Given the description of an element on the screen output the (x, y) to click on. 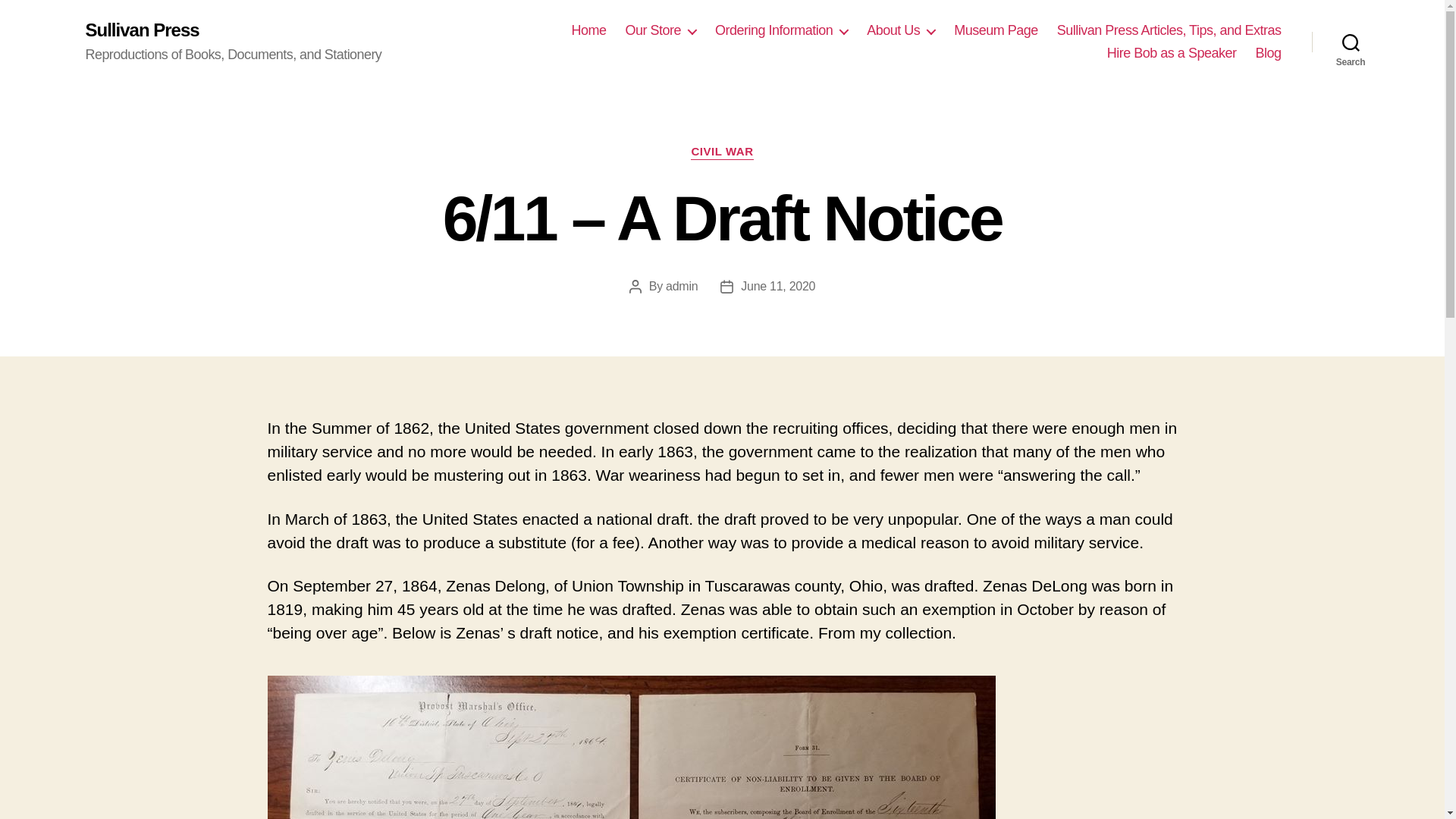
Home (587, 30)
Sullivan Press (141, 30)
Museum Page (995, 30)
About Us (900, 30)
Hire Bob as a Speaker (1171, 53)
Search (1350, 41)
Ordering Information (780, 30)
Blog (1268, 53)
Sullivan Press Articles, Tips, and Extras (1169, 30)
Our Store (661, 30)
